Given the description of an element on the screen output the (x, y) to click on. 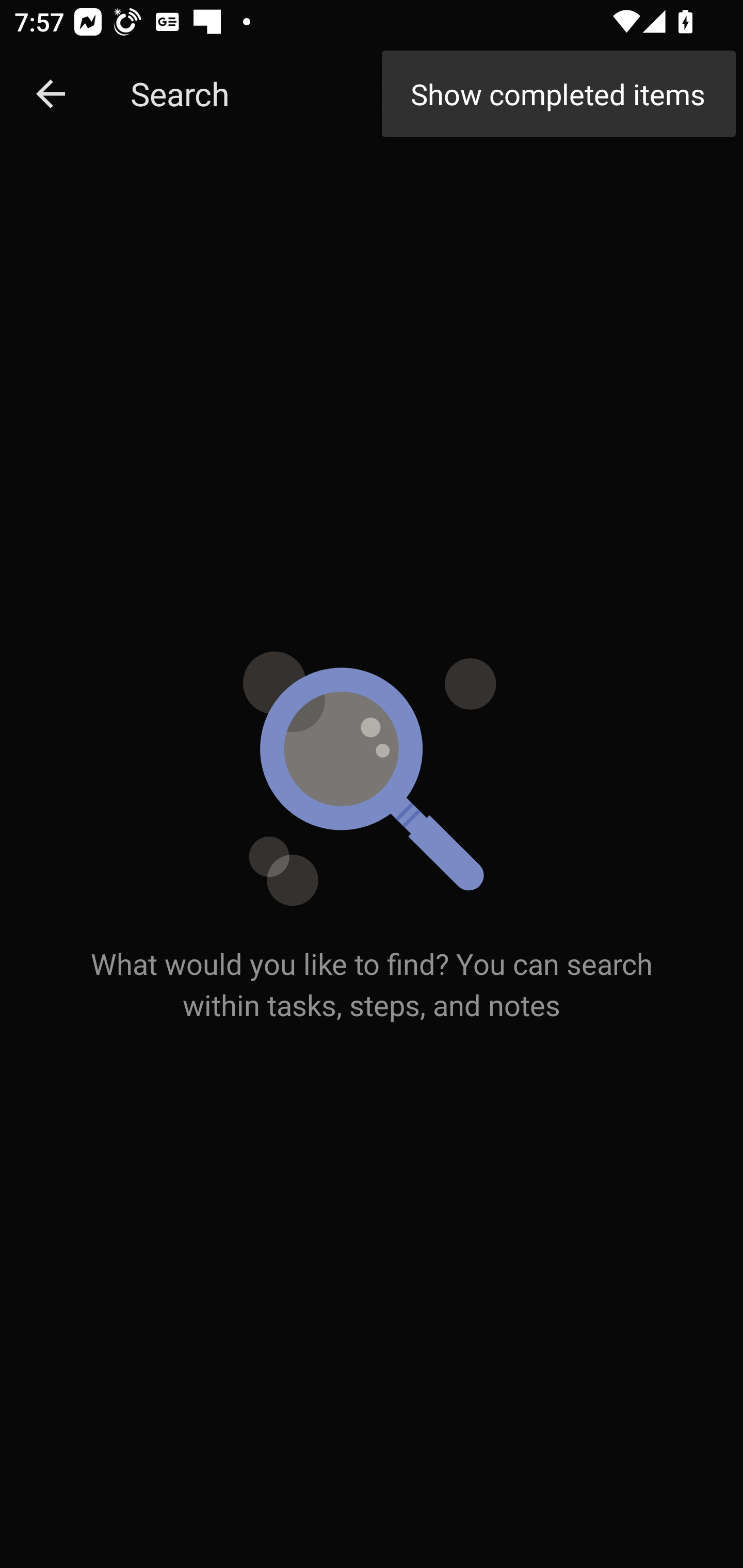
Show completed items (558, 93)
